Given the description of an element on the screen output the (x, y) to click on. 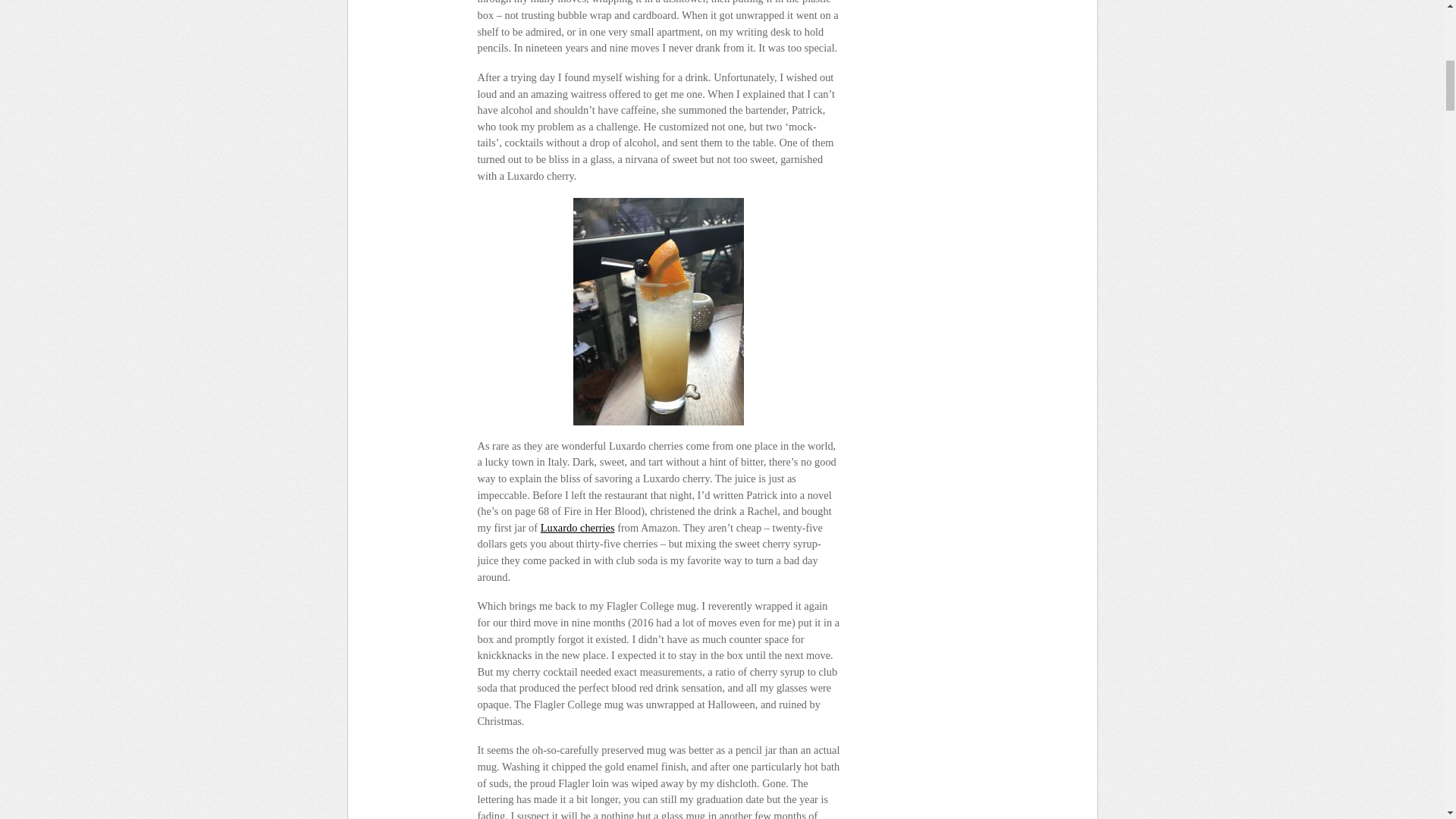
Luxardo cherries (577, 527)
